Given the description of an element on the screen output the (x, y) to click on. 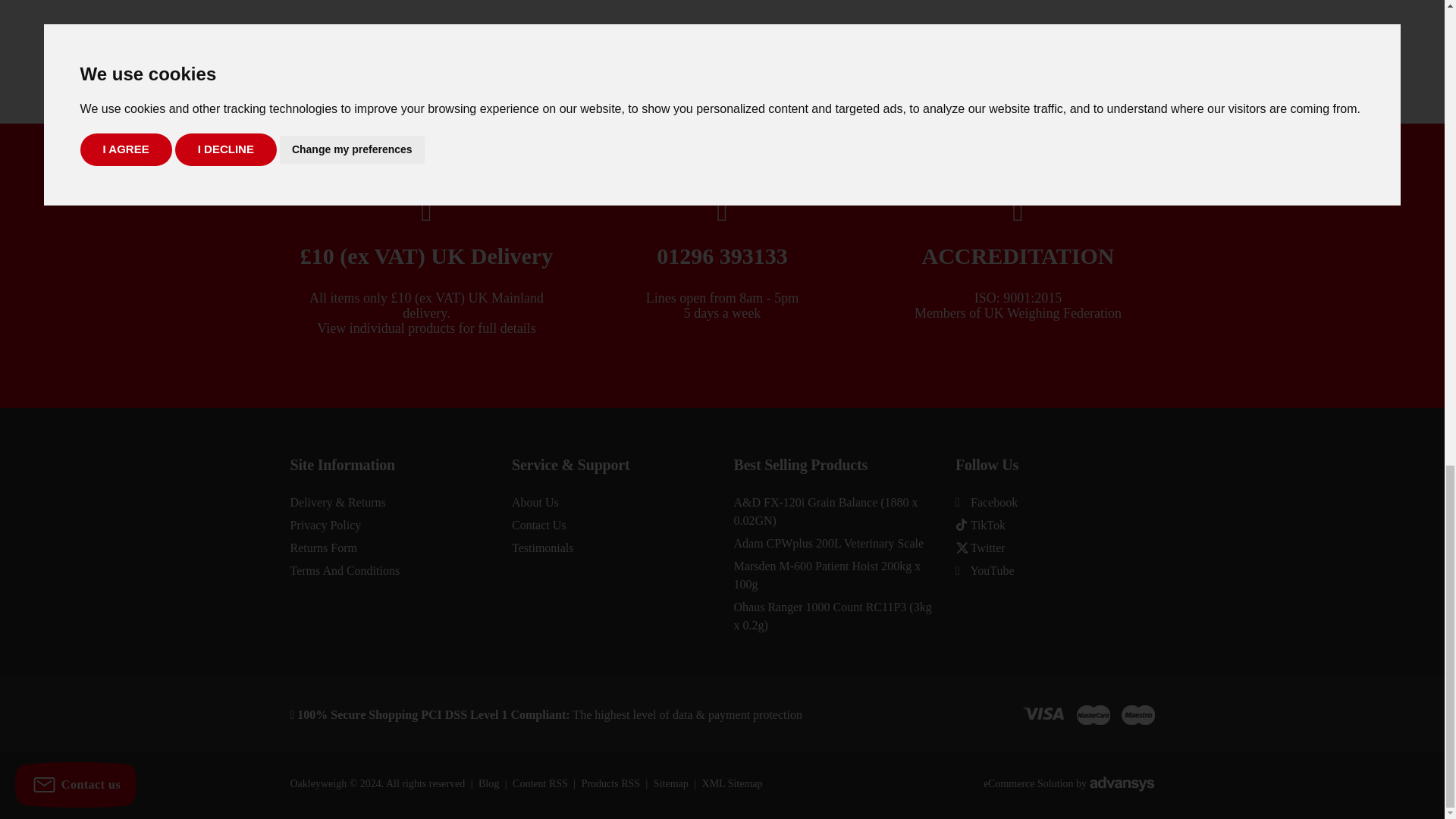
YouTube video player (956, 39)
